Given the description of an element on the screen output the (x, y) to click on. 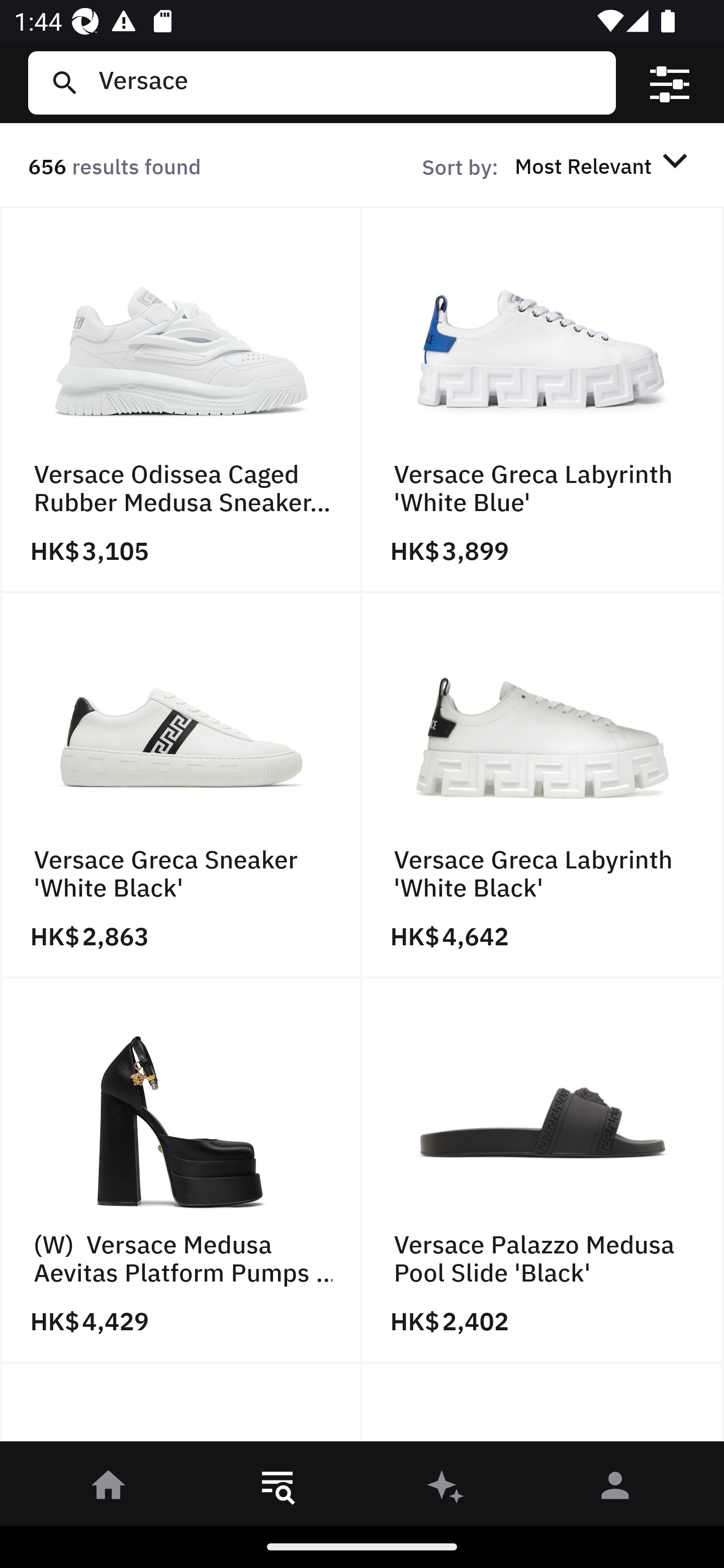
Versace (349, 82)
 (669, 82)
Most Relevant  (604, 165)
Versace Greca Labyrinth 'White Blue' HK$ 3,899 (543, 399)
Versace Greca Sneaker 'White Black' HK$ 2,863 (181, 785)
Versace Greca Labyrinth 'White Black' HK$ 4,642 (543, 785)
󰋜 (108, 1488)
󱎸 (277, 1488)
󰫢 (446, 1488)
󰀄 (615, 1488)
